Given the description of an element on the screen output the (x, y) to click on. 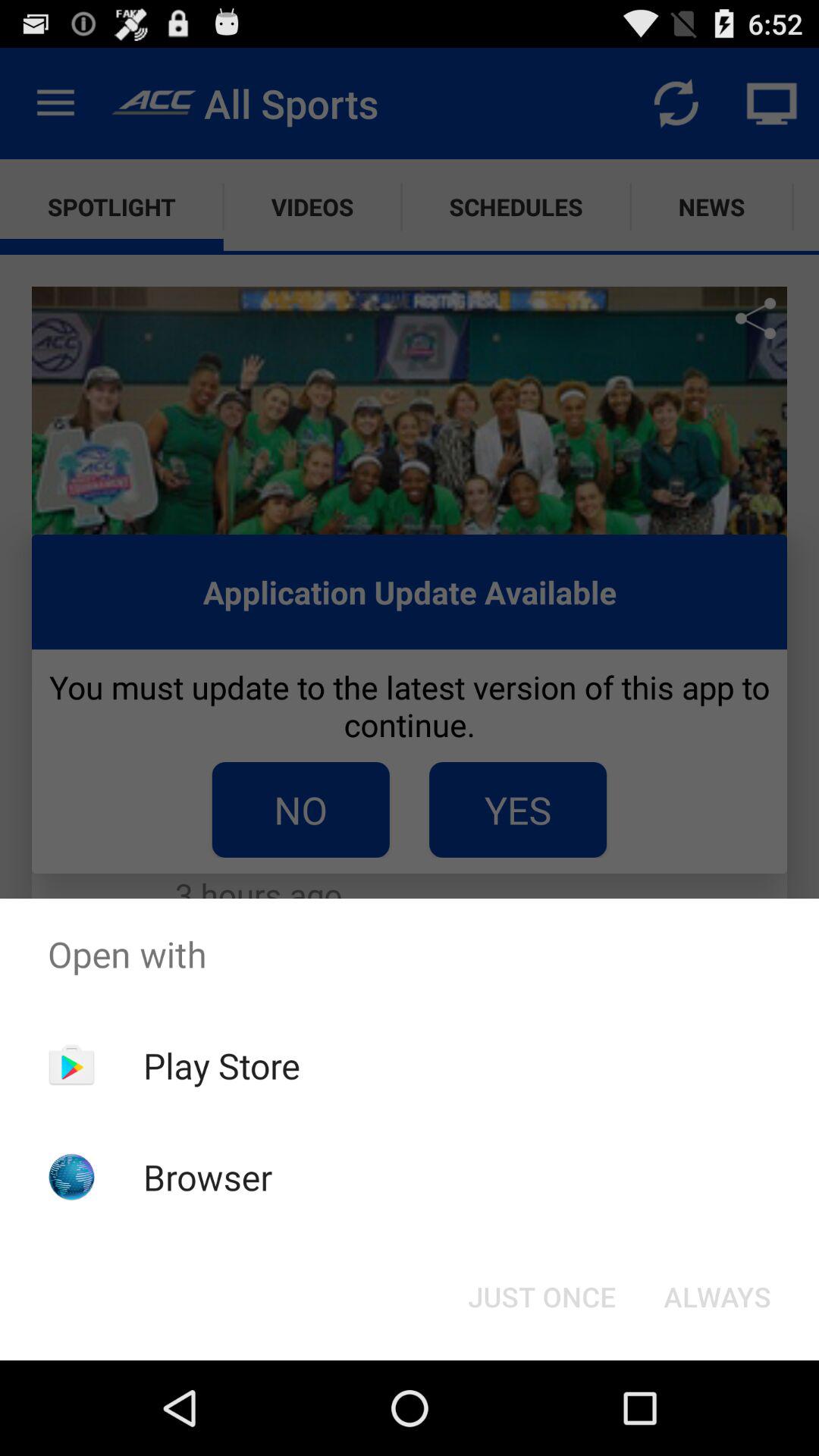
launch the just once item (541, 1296)
